Given the description of an element on the screen output the (x, y) to click on. 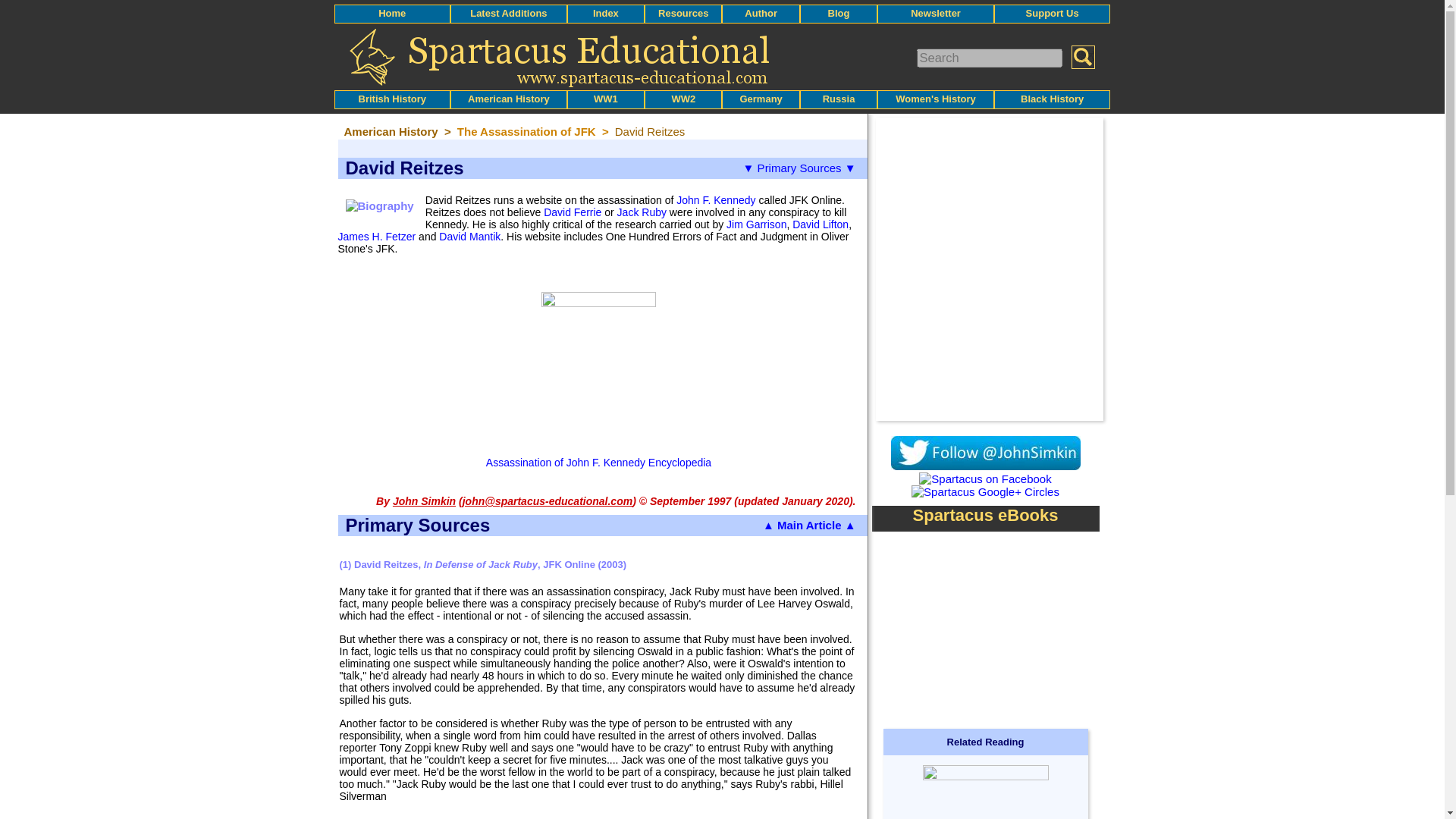
American History (508, 98)
Latest Additions (508, 12)
Newsletter (935, 12)
British History (392, 98)
Russia (839, 98)
Home (392, 12)
Index (605, 12)
Blog (839, 12)
Support Us (1052, 12)
Germany (760, 98)
James H. Fetzer (376, 236)
Author (760, 12)
David Mantik (469, 236)
Women's History (935, 98)
Black History (1051, 98)
